Given the description of an element on the screen output the (x, y) to click on. 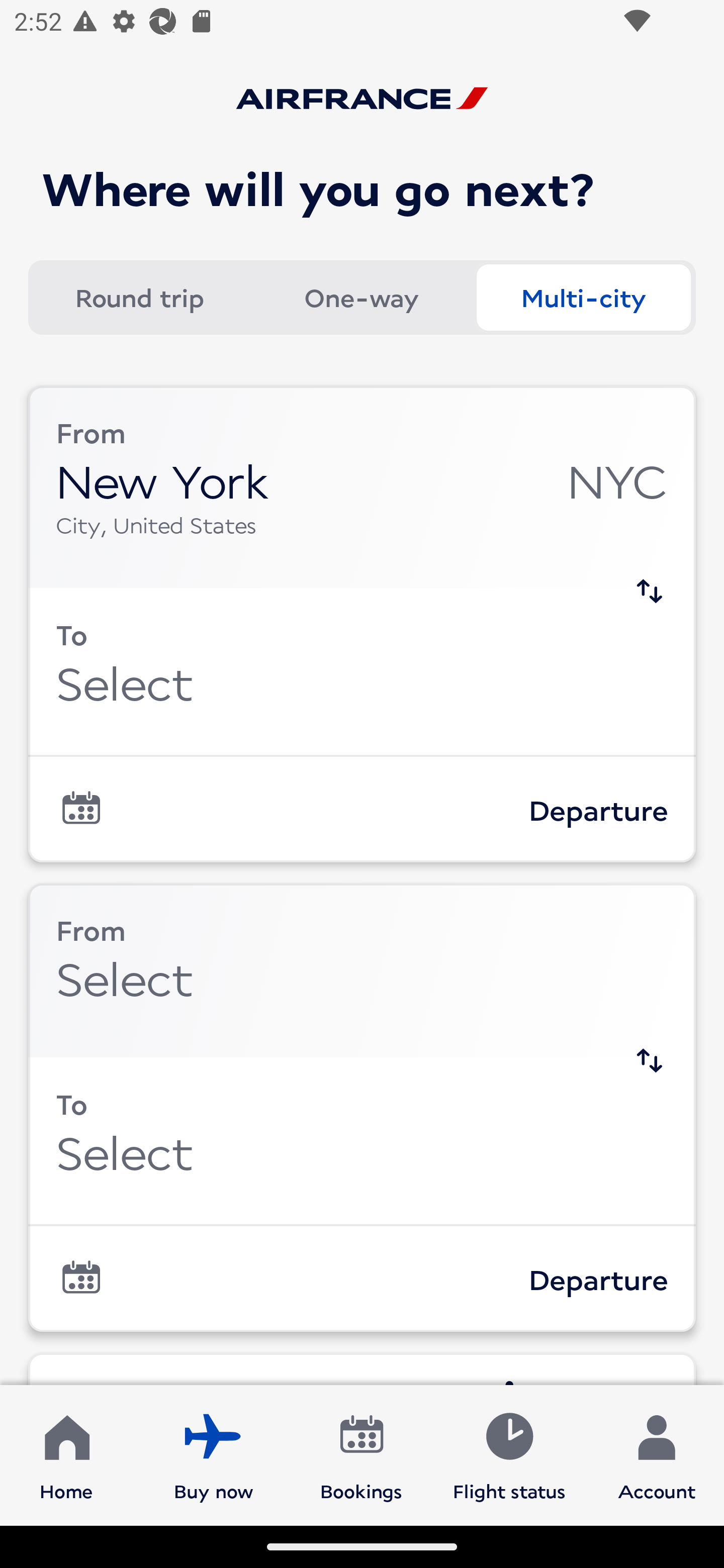
Round trip (139, 297)
One-way (361, 297)
Multi-city (583, 297)
From New York NYC City, United States (361, 486)
To Select (361, 671)
Departure (361, 809)
From Select (361, 969)
To Select (361, 1140)
Departure (361, 1278)
Home (66, 1454)
Bookings (361, 1454)
Flight status (509, 1454)
Account (657, 1454)
